Given the description of an element on the screen output the (x, y) to click on. 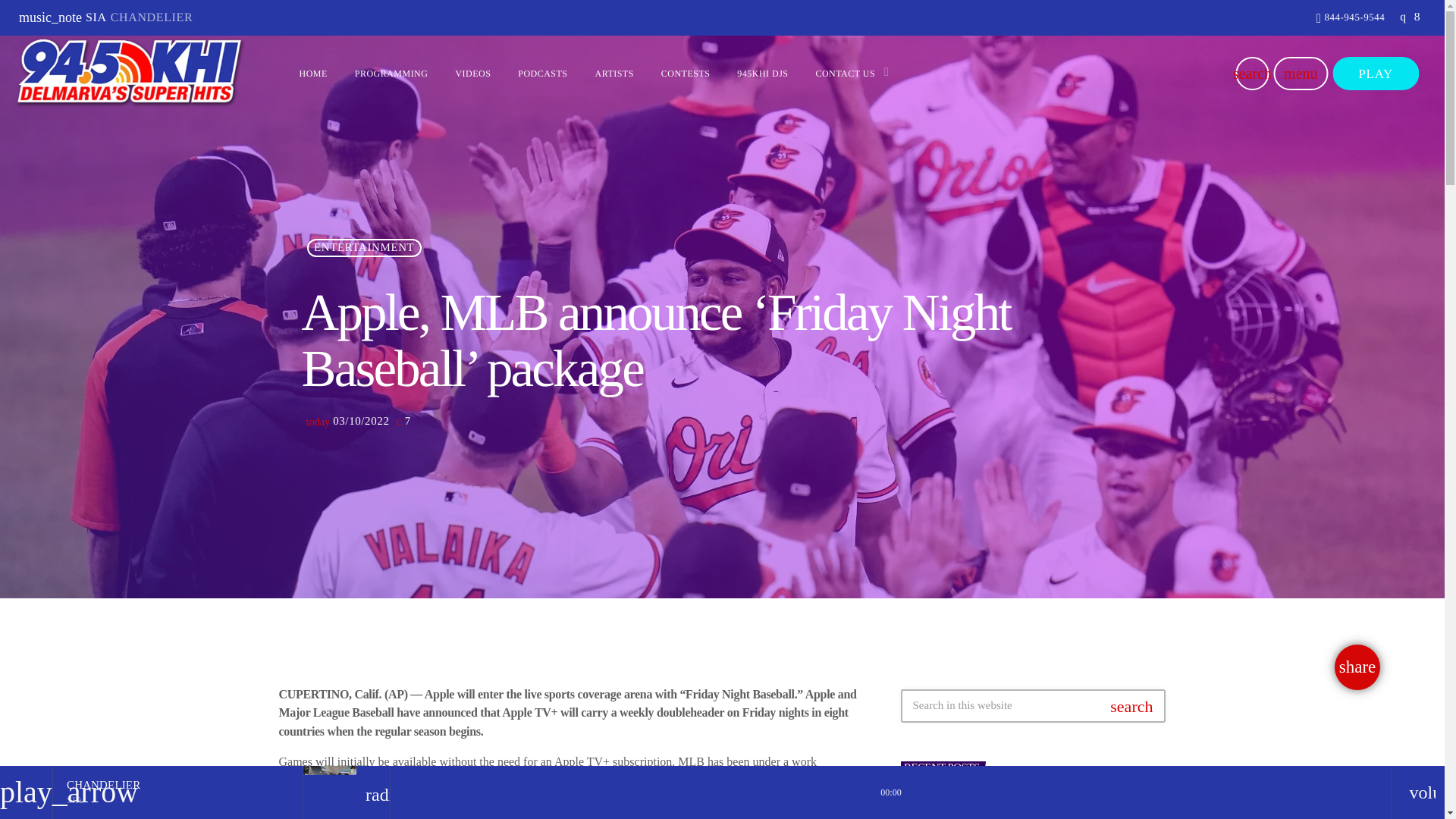
844-945-9544 (1350, 17)
CONTESTS (685, 73)
HOME (312, 73)
search (1251, 73)
menu (1299, 73)
PROGRAMMING (391, 73)
VIDEOS (472, 73)
945KHI DJS (762, 73)
PODCASTS (541, 73)
PLAY (1375, 73)
CONTACT US (846, 73)
ARTISTS (613, 73)
